Given the description of an element on the screen output the (x, y) to click on. 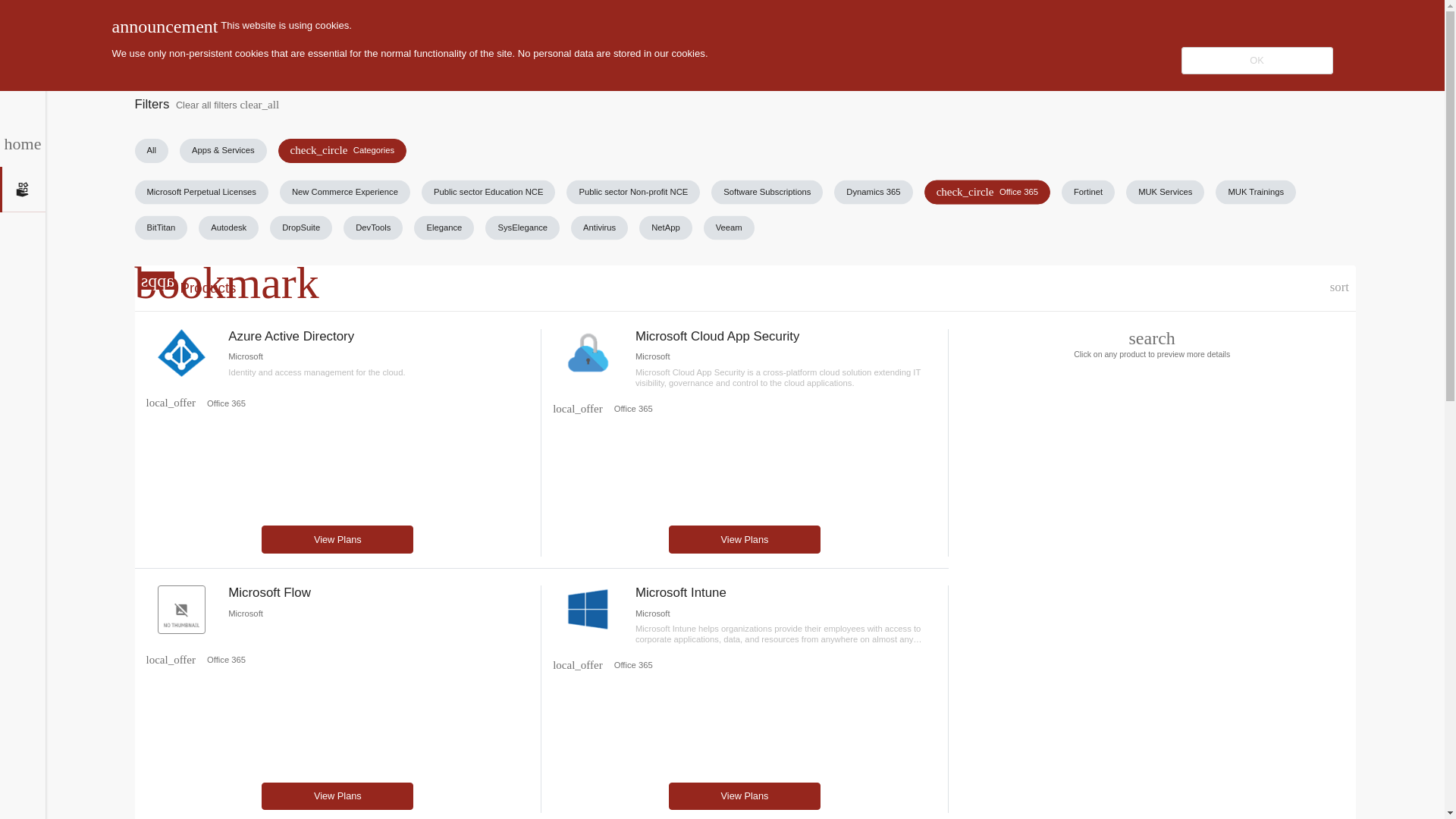
Veeam (728, 227)
Software Subscriptions (766, 191)
Log In (1363, 22)
Public sector Non-profit NCE (633, 191)
Category (1339, 287)
NetApp (170, 659)
MUK Cloud Georgia (666, 227)
Category (84, 22)
New Commerce Experience (577, 408)
SysElegance (344, 191)
Category (521, 227)
Dynamics 365 (170, 402)
Public sector Education NCE (873, 191)
Register (488, 191)
